Given the description of an element on the screen output the (x, y) to click on. 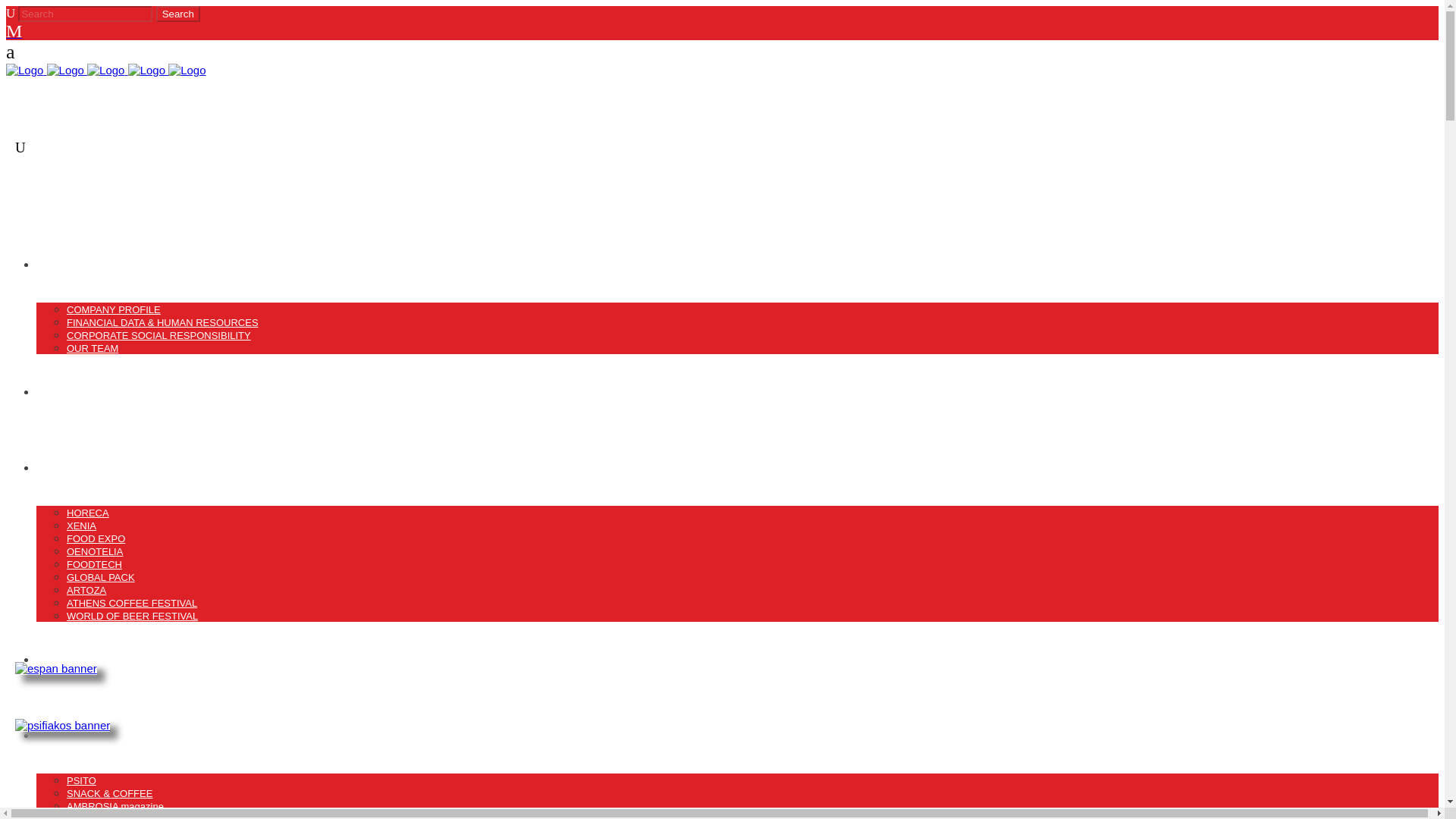
CORPORATE SOCIAL RESPONSIBILITY (158, 335)
NEWS (52, 391)
ARTOZA (86, 590)
OENOTELIA (94, 551)
PUBLICATIONS (78, 735)
FORUM TOTAL SOLUTIONS (111, 658)
Search (177, 13)
A-Z (74, 816)
Search (177, 13)
A-Z (74, 816)
